Given the description of an element on the screen output the (x, y) to click on. 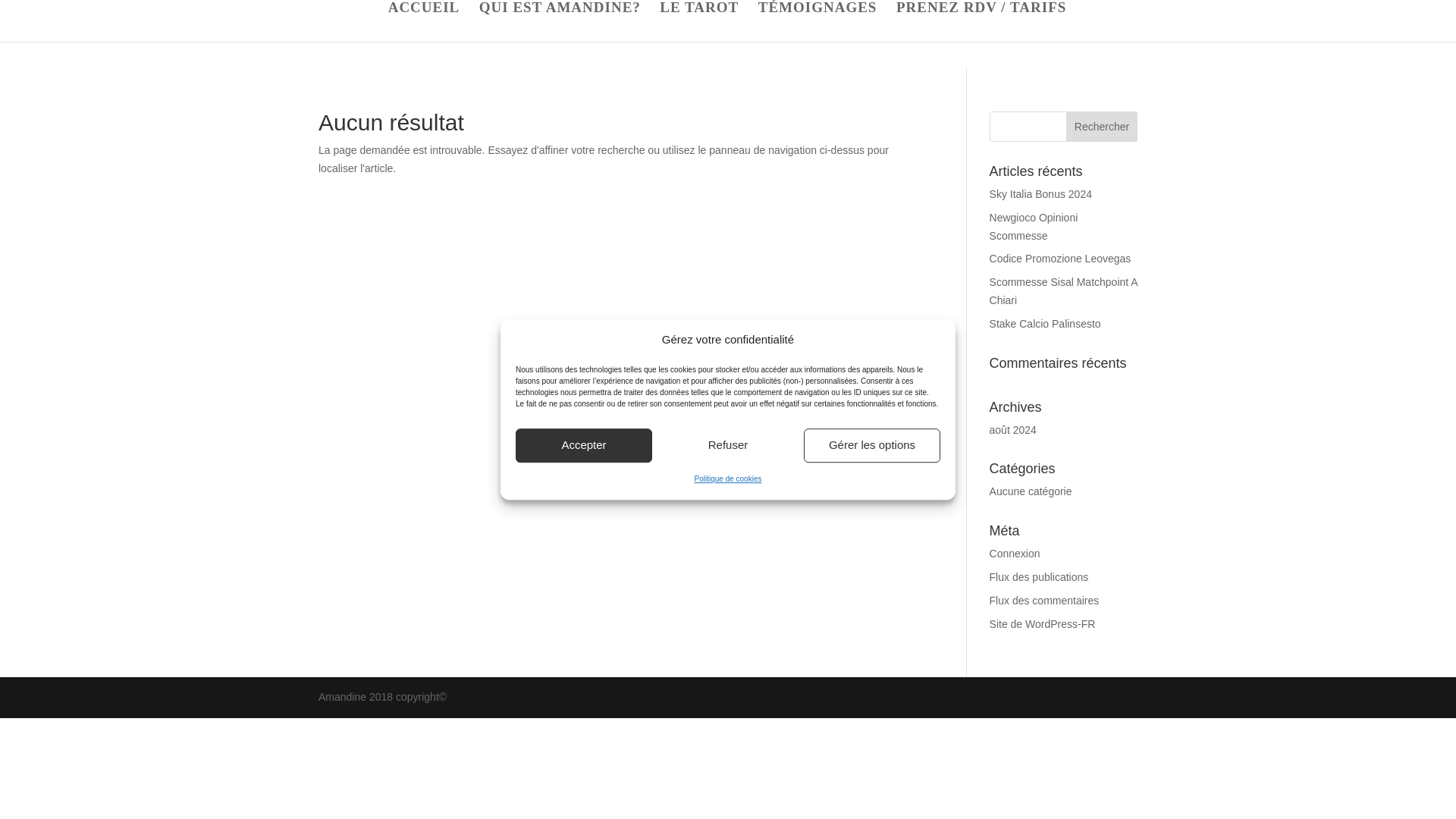
Stake Calcio Palinsesto (1045, 323)
QUI EST AMANDINE? (559, 21)
Scommesse Sisal Matchpoint A Chiari (1063, 291)
Flux des commentaires (1044, 600)
Codice Promozione Leovegas (1060, 258)
Politique de cookies (727, 479)
Newgioco Opinioni Scommesse (1034, 226)
LE TAROT (698, 21)
Refuser (727, 445)
Accepter (583, 445)
